Given the description of an element on the screen output the (x, y) to click on. 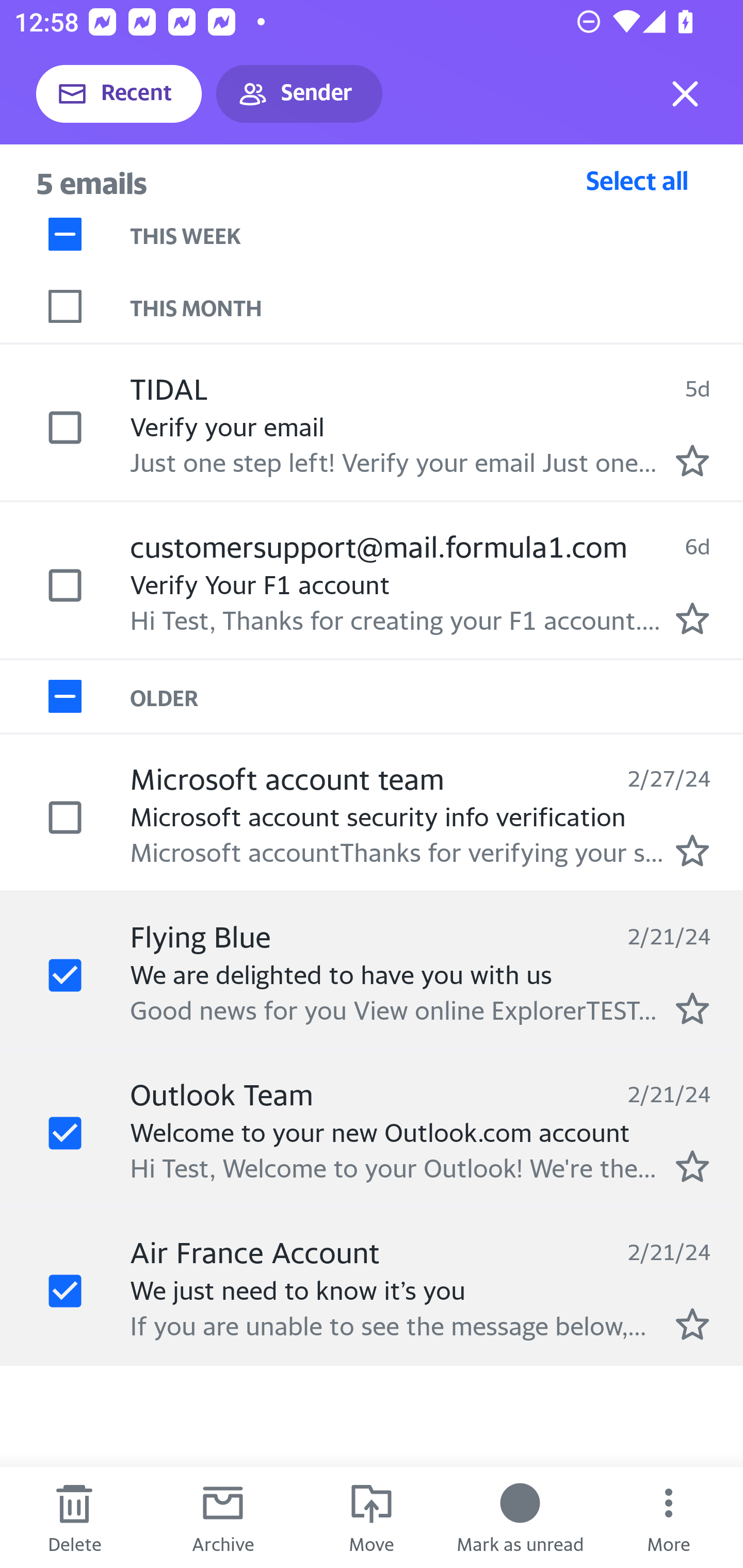
Sender (299, 93)
Exit selection mode (684, 93)
Select all (637, 180)
THIS MONTH (436, 306)
Mark as starred. (692, 460)
Mark as starred. (692, 618)
OLDER (436, 696)
Mark as starred. (692, 850)
Mark as starred. (692, 1008)
Mark as starred. (692, 1165)
Mark as starred. (692, 1324)
Delete (74, 1517)
Archive (222, 1517)
Move (371, 1517)
Mark as unread (519, 1517)
More (668, 1517)
